Given the description of an element on the screen output the (x, y) to click on. 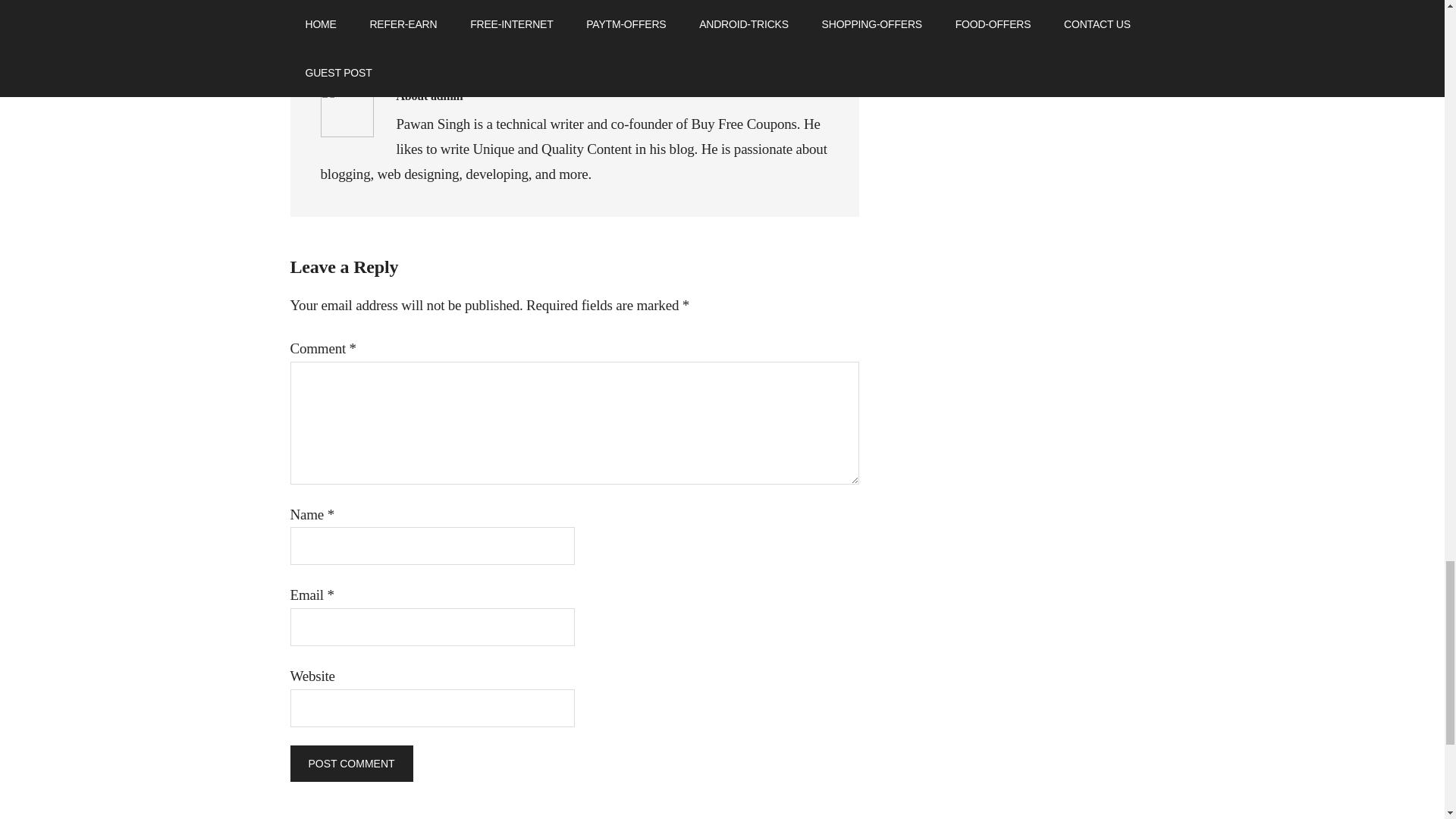
Post Comment (350, 763)
Post Comment (350, 763)
